Given the description of an element on the screen output the (x, y) to click on. 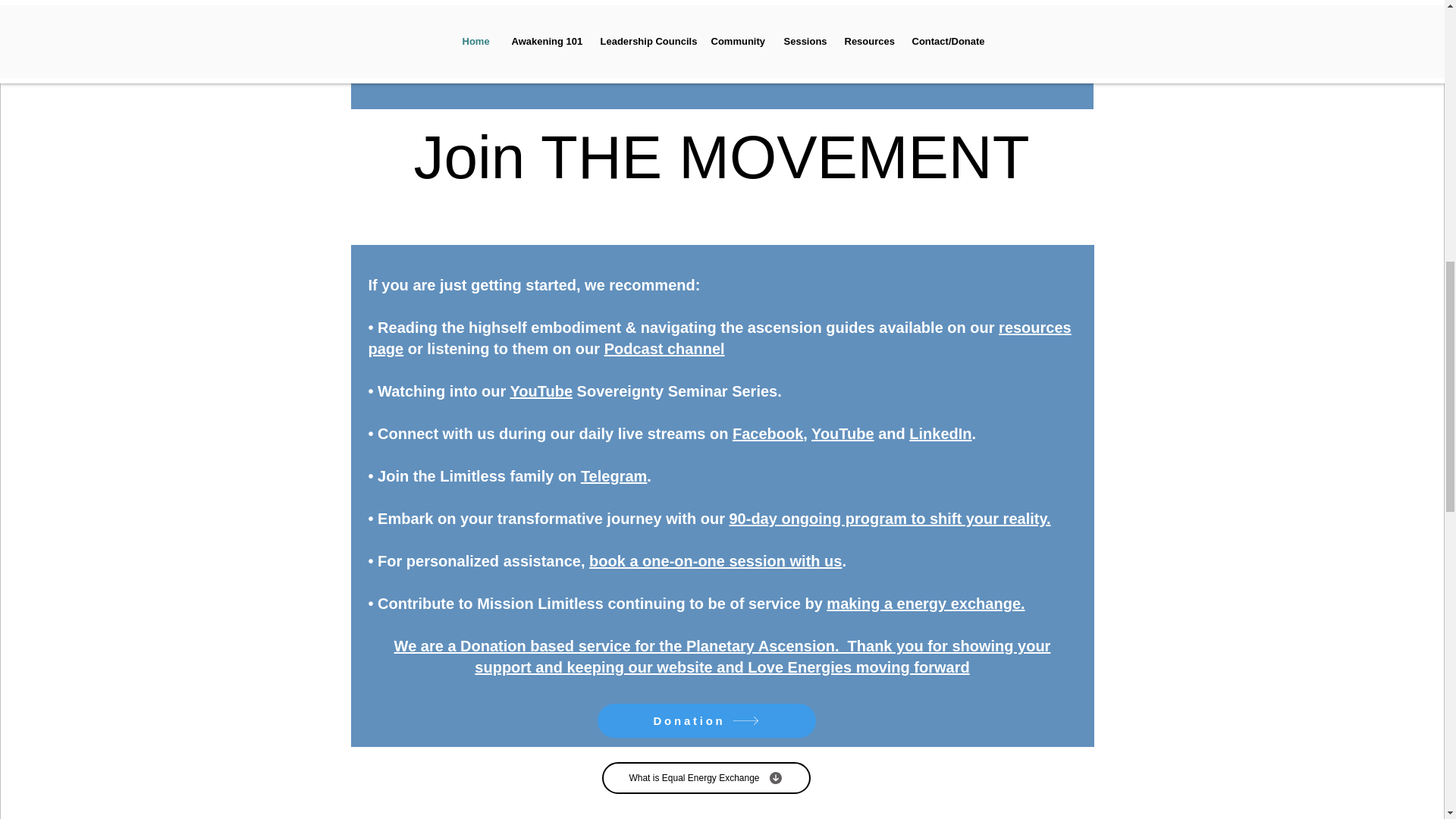
Podcast channel (664, 348)
YouTube (540, 391)
YouTube (842, 433)
book a one-on-one session with us (715, 560)
LinkedIn (939, 433)
making a energy exchange. (926, 603)
Telegram (613, 475)
90-day ongoing program to shift your reality. (889, 518)
Facebook (767, 433)
